Given the description of an element on the screen output the (x, y) to click on. 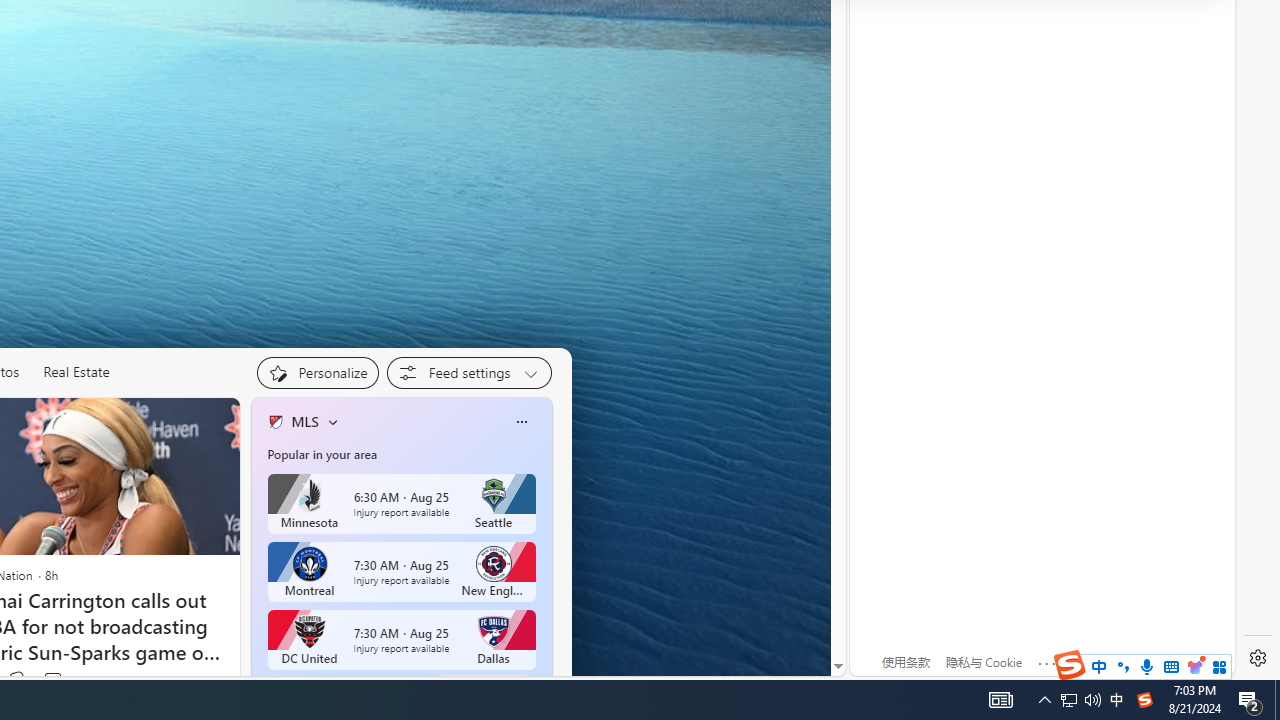
MLS (304, 422)
Class: icon-img (521, 421)
Real Estate (75, 372)
Real Estate (76, 371)
More interests (332, 421)
View comments 7 Comment (57, 680)
Feed settings (468, 372)
Personalize your feed" (317, 372)
